Given the description of an element on the screen output the (x, y) to click on. 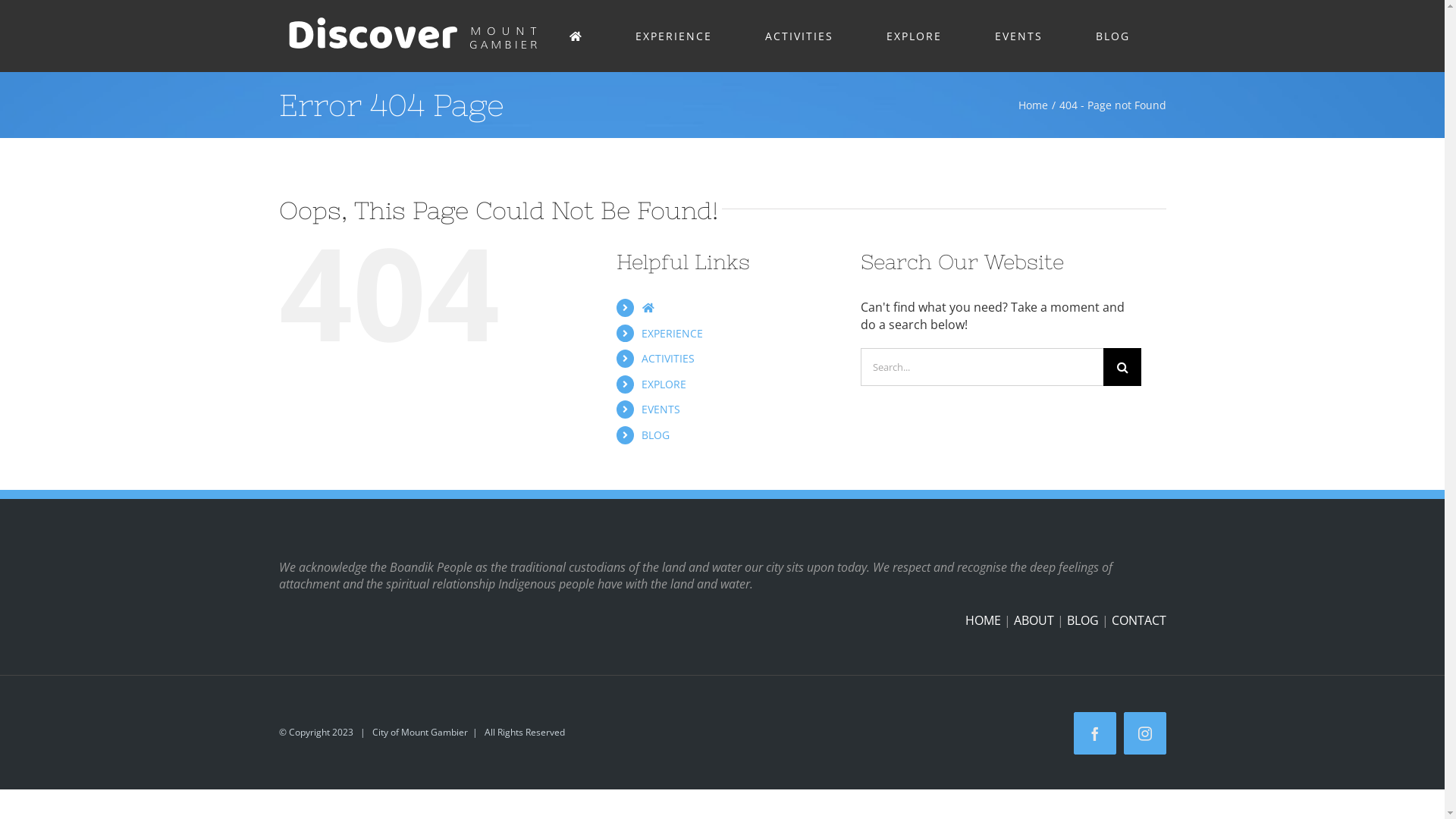
ACTIVITIES Element type: text (798, 36)
ABOUT Element type: text (1033, 619)
BLOG Element type: text (1112, 36)
BLOG Element type: text (1082, 619)
EXPLORE Element type: text (663, 383)
CONTACT Element type: text (1138, 619)
HOME Element type: text (982, 619)
ACTIVITIES Element type: text (667, 358)
EXPERIENCE Element type: text (673, 36)
EVENTS Element type: text (660, 408)
BLOG Element type: text (655, 434)
Facebook Element type: text (1094, 733)
EVENTS Element type: text (1019, 36)
EXPERIENCE Element type: text (671, 333)
EXPLORE Element type: text (913, 36)
Instagram Element type: text (1144, 733)
Home Element type: text (1032, 104)
